Given the description of an element on the screen output the (x, y) to click on. 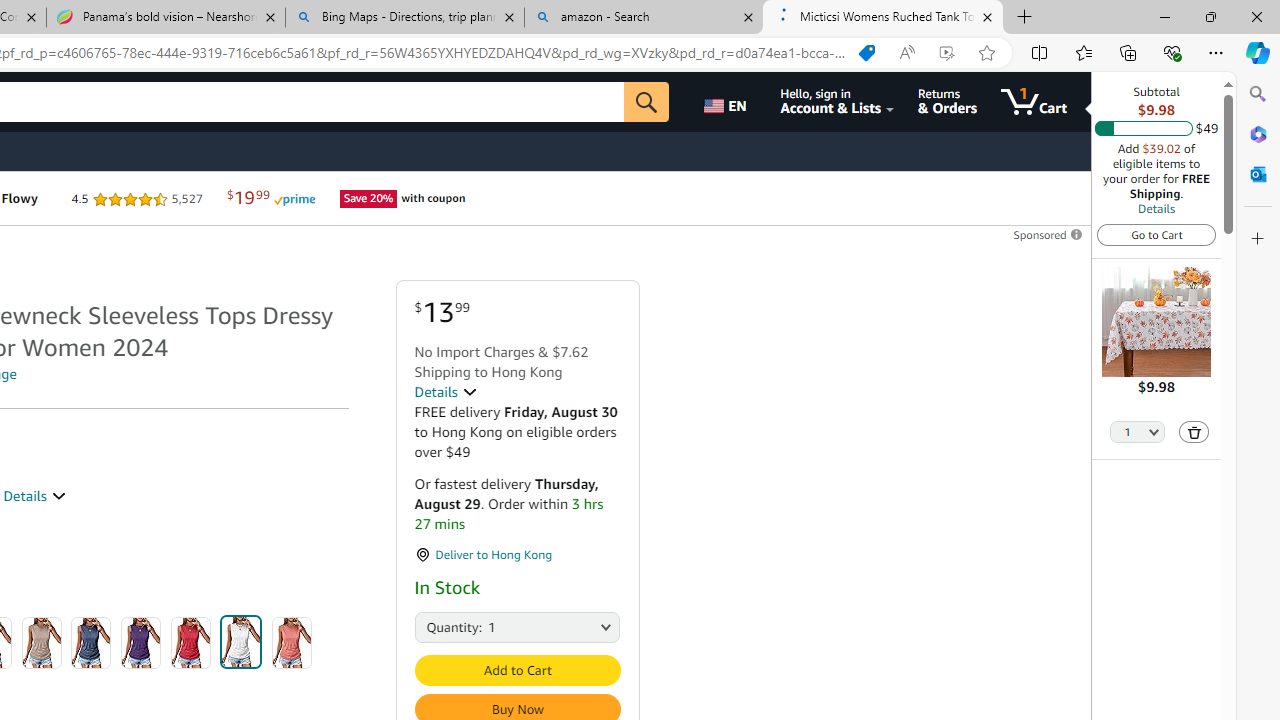
Go (646, 101)
